Given the description of an element on the screen output the (x, y) to click on. 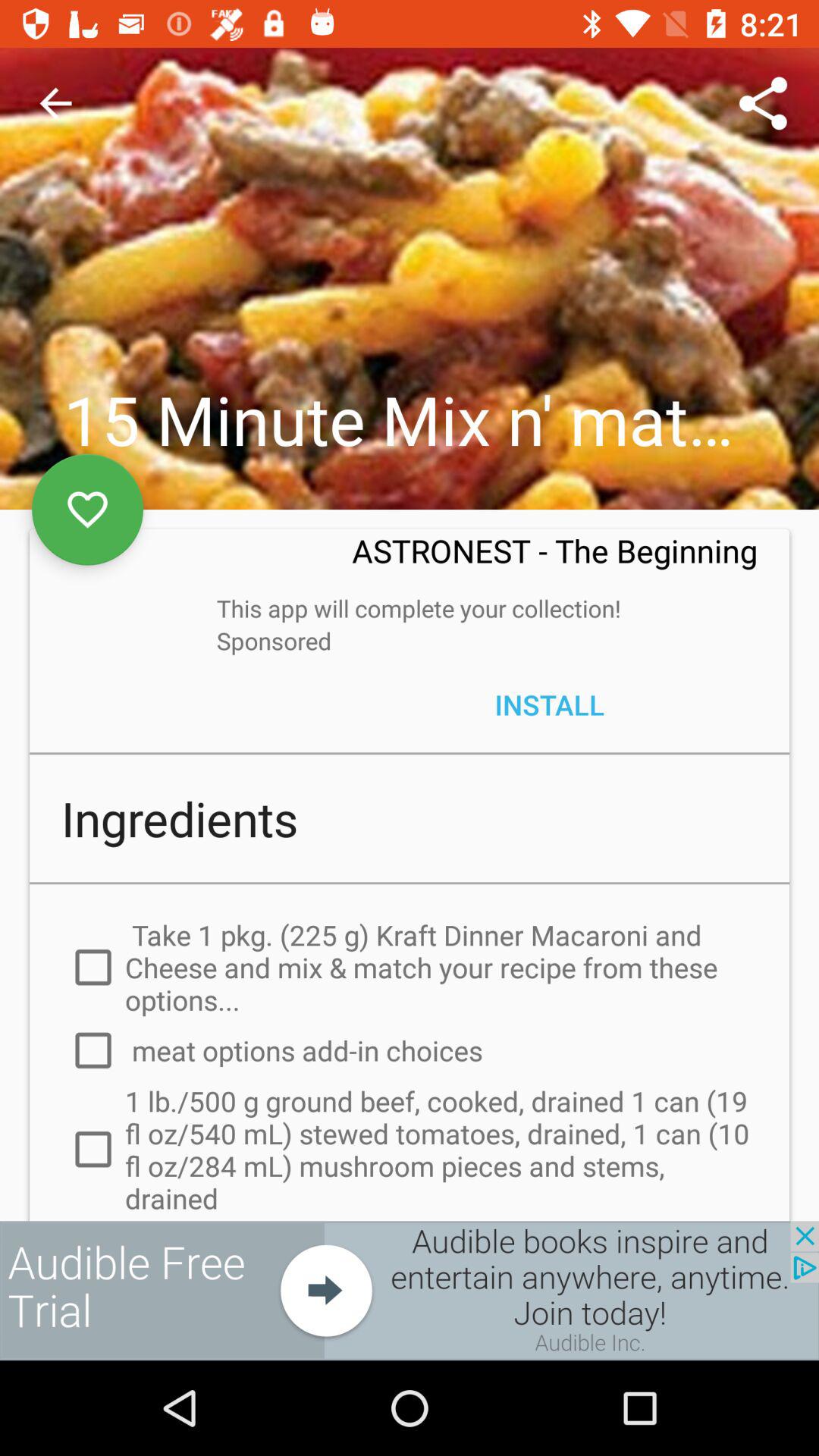
select the share icon (763, 103)
select the third check box (74, 1161)
